Given the description of an element on the screen output the (x, y) to click on. 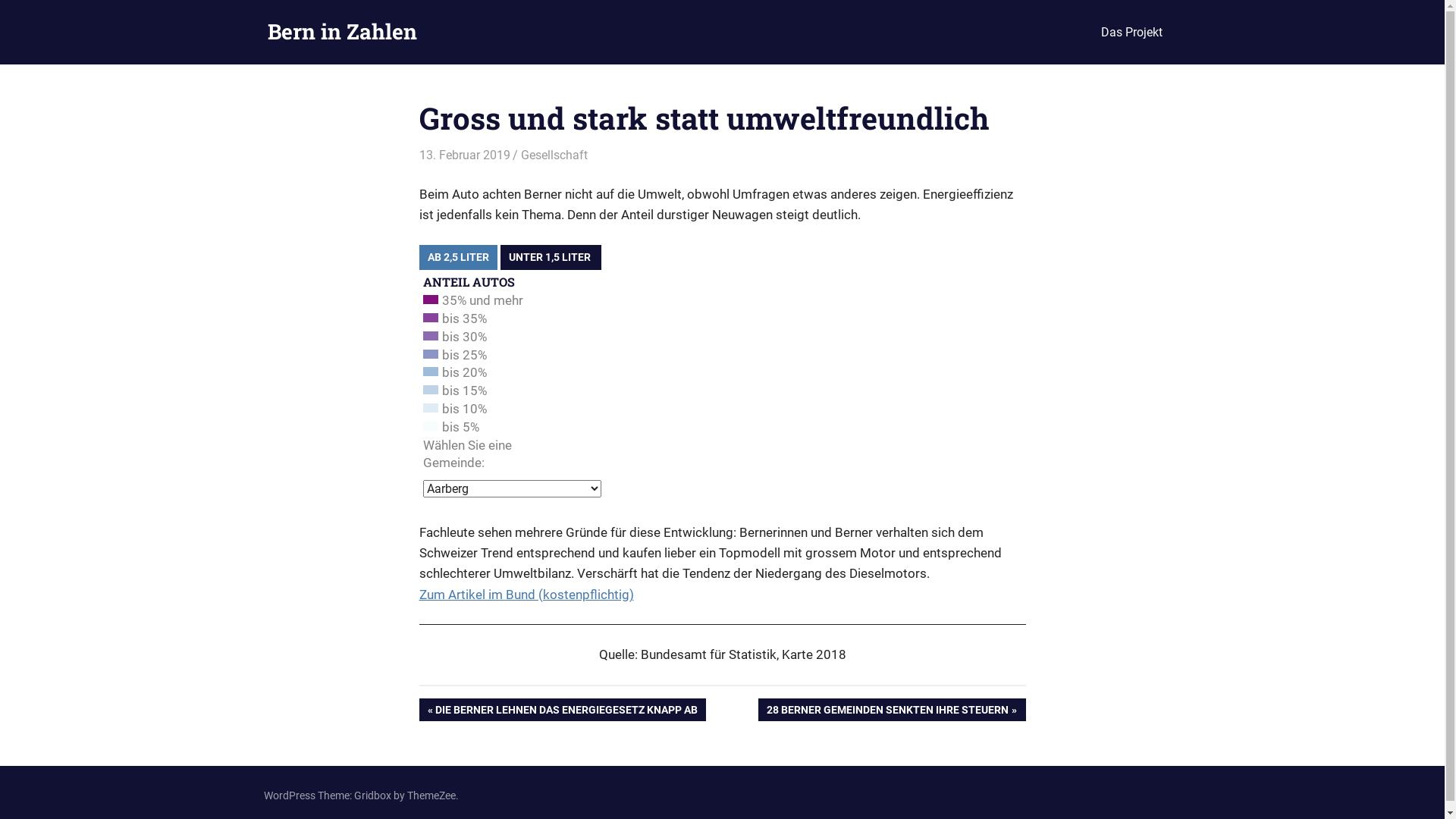
Das Projekt Element type: text (1131, 32)
Bern in Zahlen Element type: text (341, 31)
Gesellschaft Element type: text (553, 154)
Zum Artikel im Bund (kostenpflichtig) Element type: text (525, 594)
ab 2,5 Liter Element type: text (457, 257)
13. Februar 2019 Element type: text (463, 154)
Daniel Barben Element type: text (555, 154)
unter 1,5 Liter  Element type: text (550, 257)
